Given the description of an element on the screen output the (x, y) to click on. 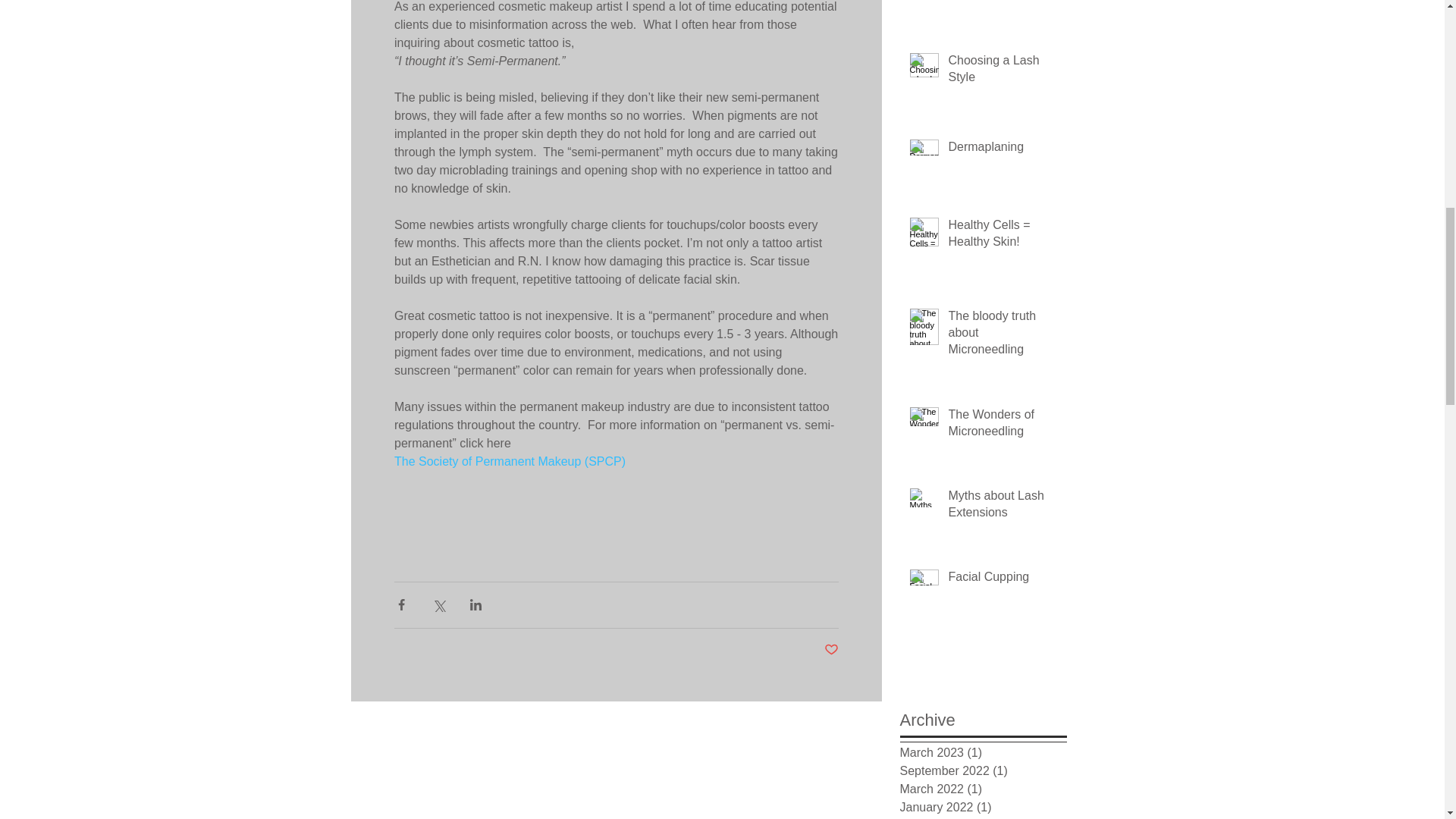
Facial Cupping (1002, 579)
Micro this. Micro that. (1002, 2)
Myths about Lash Extensions (1002, 507)
Post not marked as liked (831, 650)
The Wonders of Microneedling (1002, 426)
Dermaplaning (1002, 149)
Choosing a Lash Style (1002, 72)
The bloody truth about Microneedling (1002, 335)
